Given the description of an element on the screen output the (x, y) to click on. 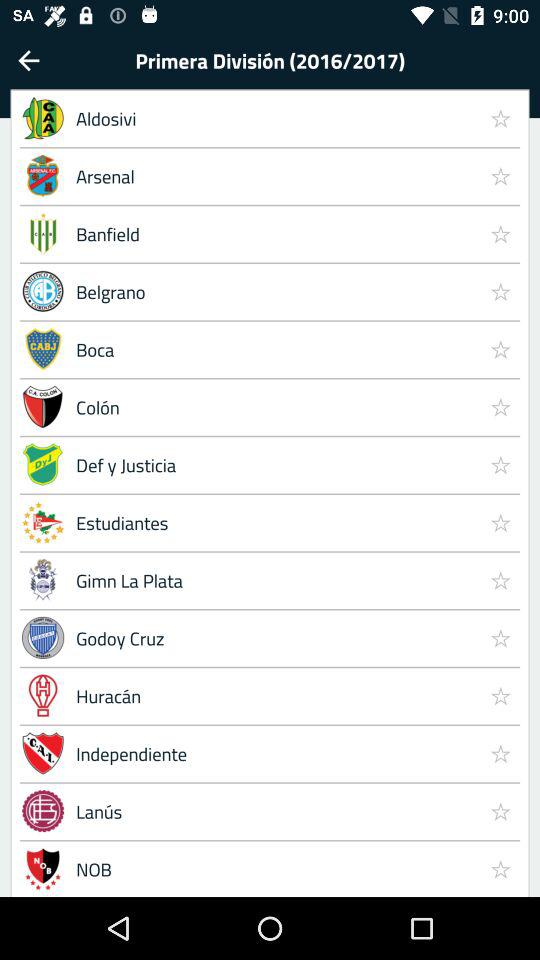
choose the item to the right of the banfield item (500, 291)
